Given the description of an element on the screen output the (x, y) to click on. 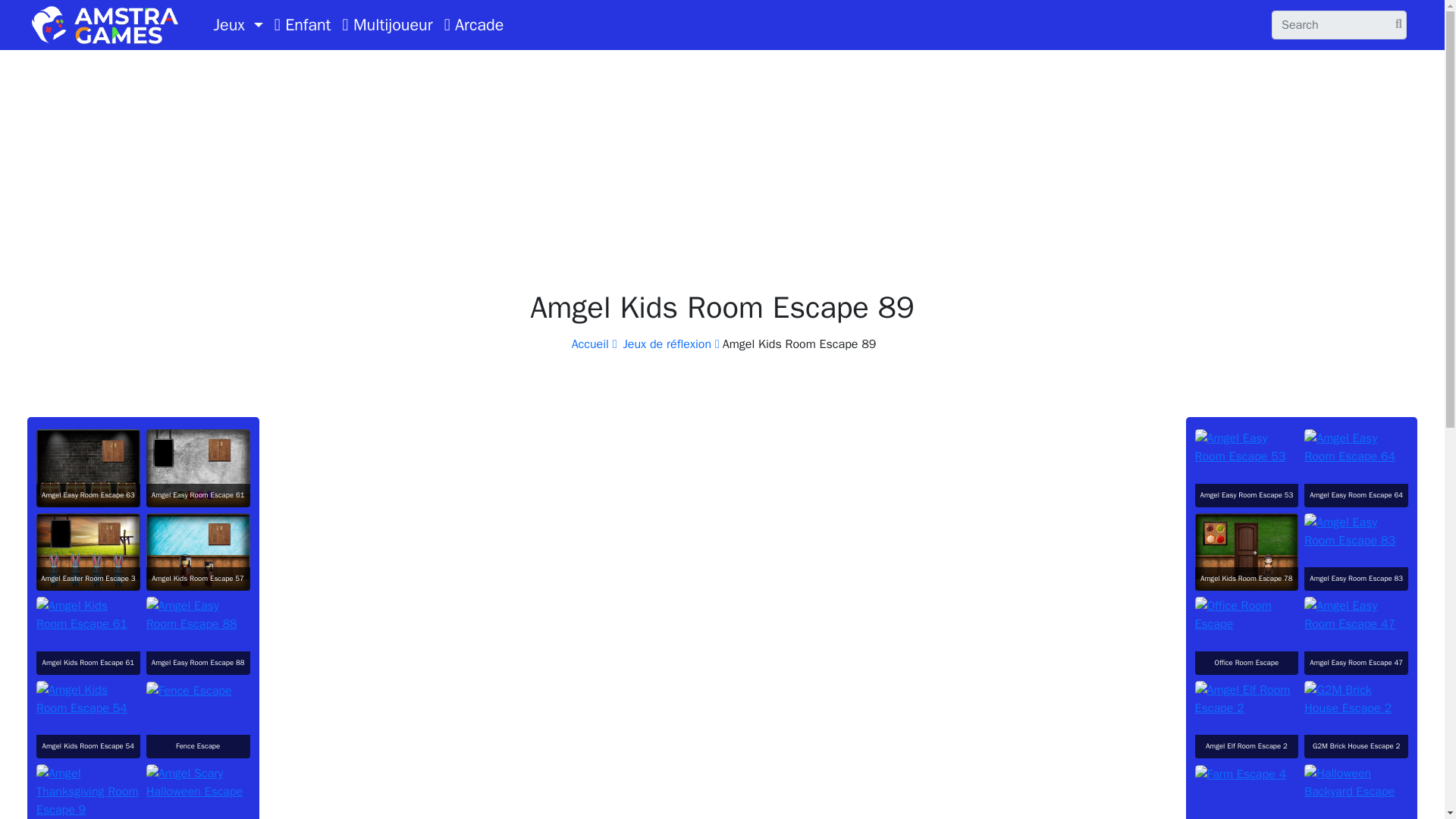
Amgel Easy Room Escape 53 (1246, 447)
 Amgel Kids Room Escape 61 (87, 615)
Amgel Easy Room Escape 88 (198, 615)
Fence Escape (189, 690)
Amgel Easy Room Escape 64 (1355, 447)
Amgel Scary Halloween Escape (198, 782)
Amgel Easy Room Escape 63 (87, 467)
Amgel Easy Room Escape 61 (198, 467)
Amgel Easy Room Escape 83 (1355, 531)
 Multijoueur (387, 24)
